Given the description of an element on the screen output the (x, y) to click on. 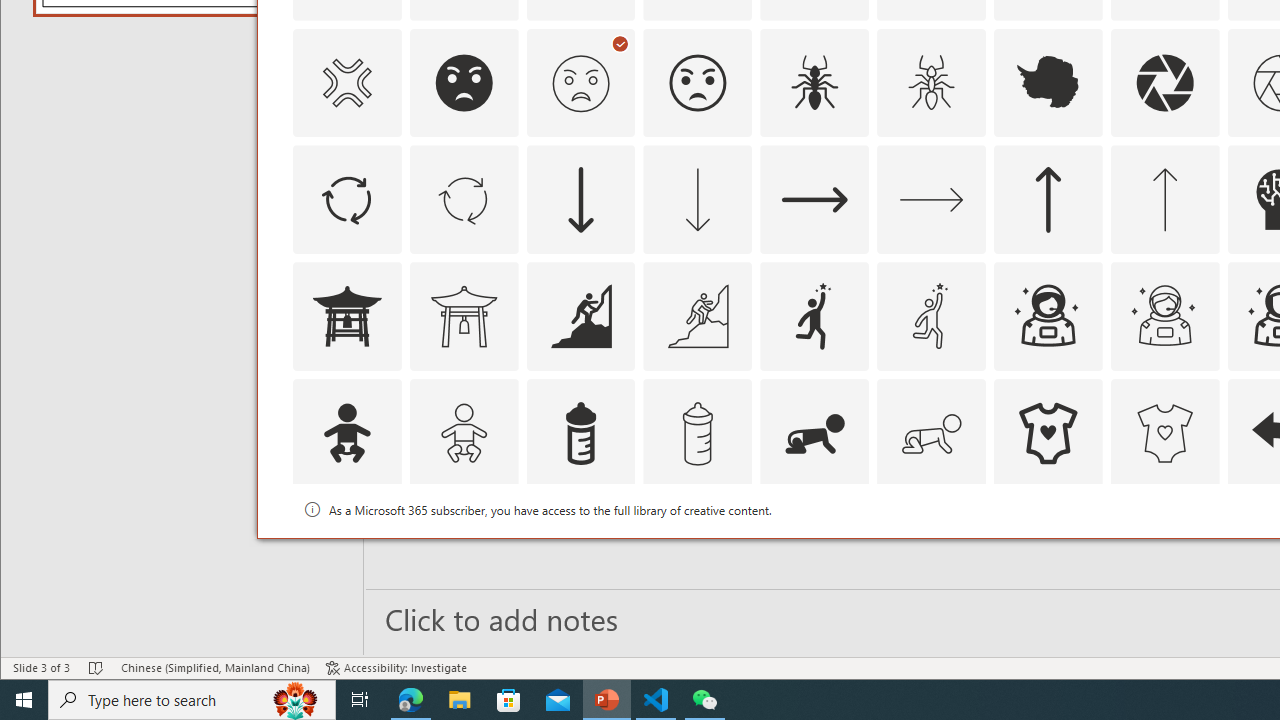
AutomationID: Icons_AsianTemple1_M (463, 316)
WeChat - 1 running window (704, 699)
AutomationID: Icons_ArrowUp_M (1164, 200)
AutomationID: Icons_ArrowUp (1048, 200)
AutomationID: Icons_ArrowDown_M (697, 200)
AutomationID: Icons_BabyBottle (580, 434)
AutomationID: Icons_ArrowRight_M (931, 200)
